Given the description of an element on the screen output the (x, y) to click on. 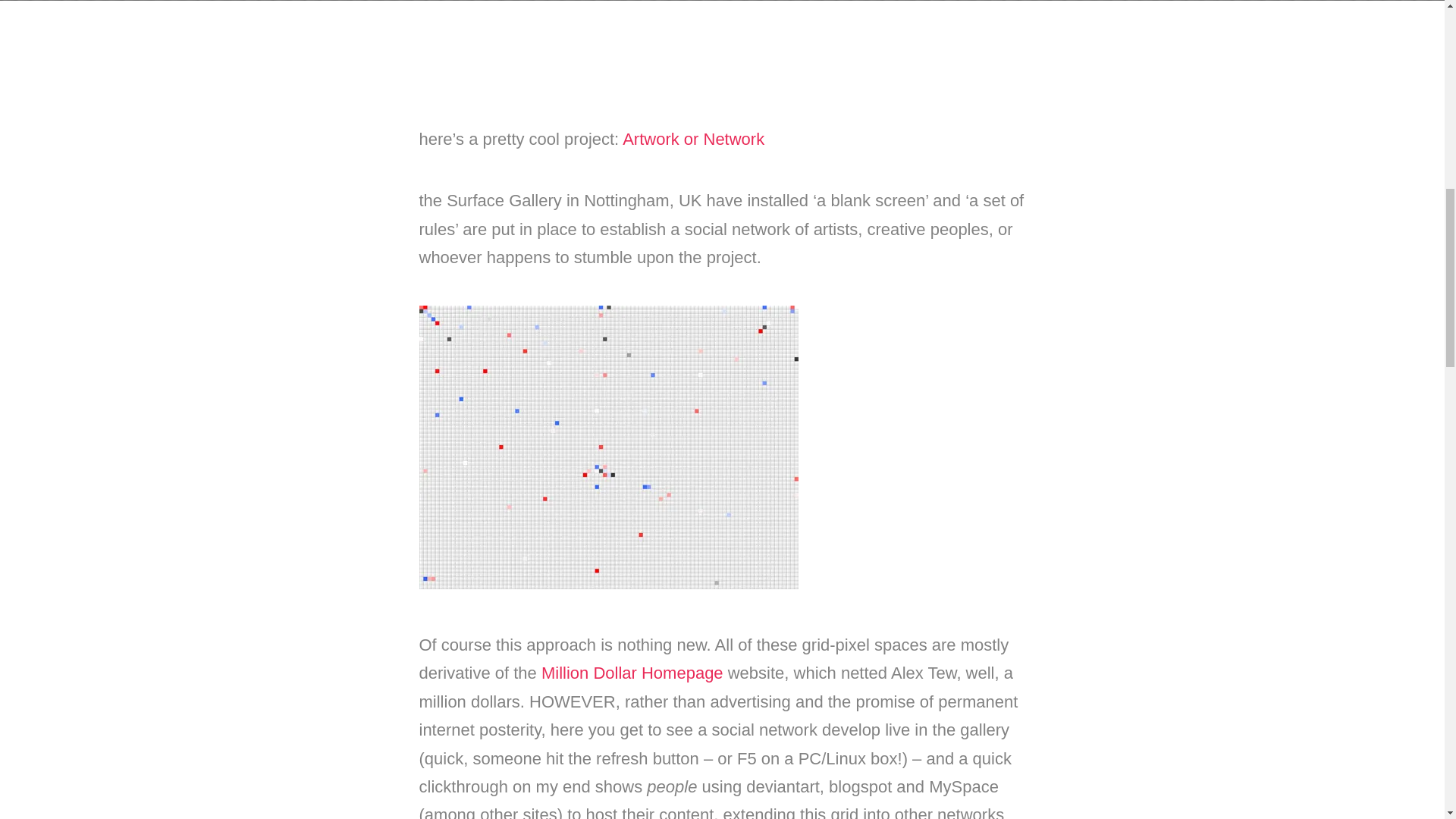
Million Dollar Homepage (632, 672)
Artwork or Network (693, 138)
